Given the description of an element on the screen output the (x, y) to click on. 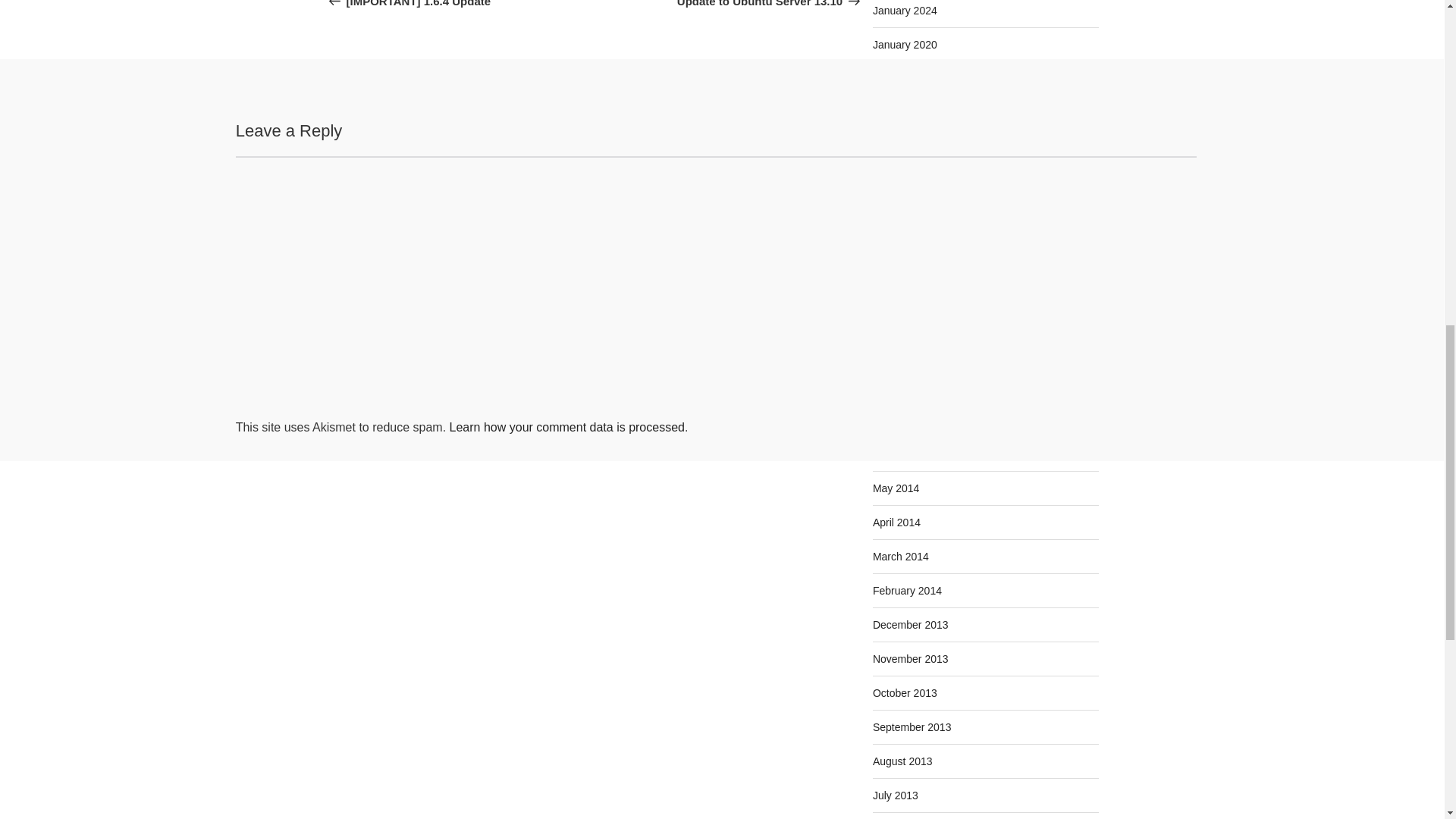
January 2024 (718, 4)
January 2020 (904, 10)
Comment Form (904, 44)
